Given the description of an element on the screen output the (x, y) to click on. 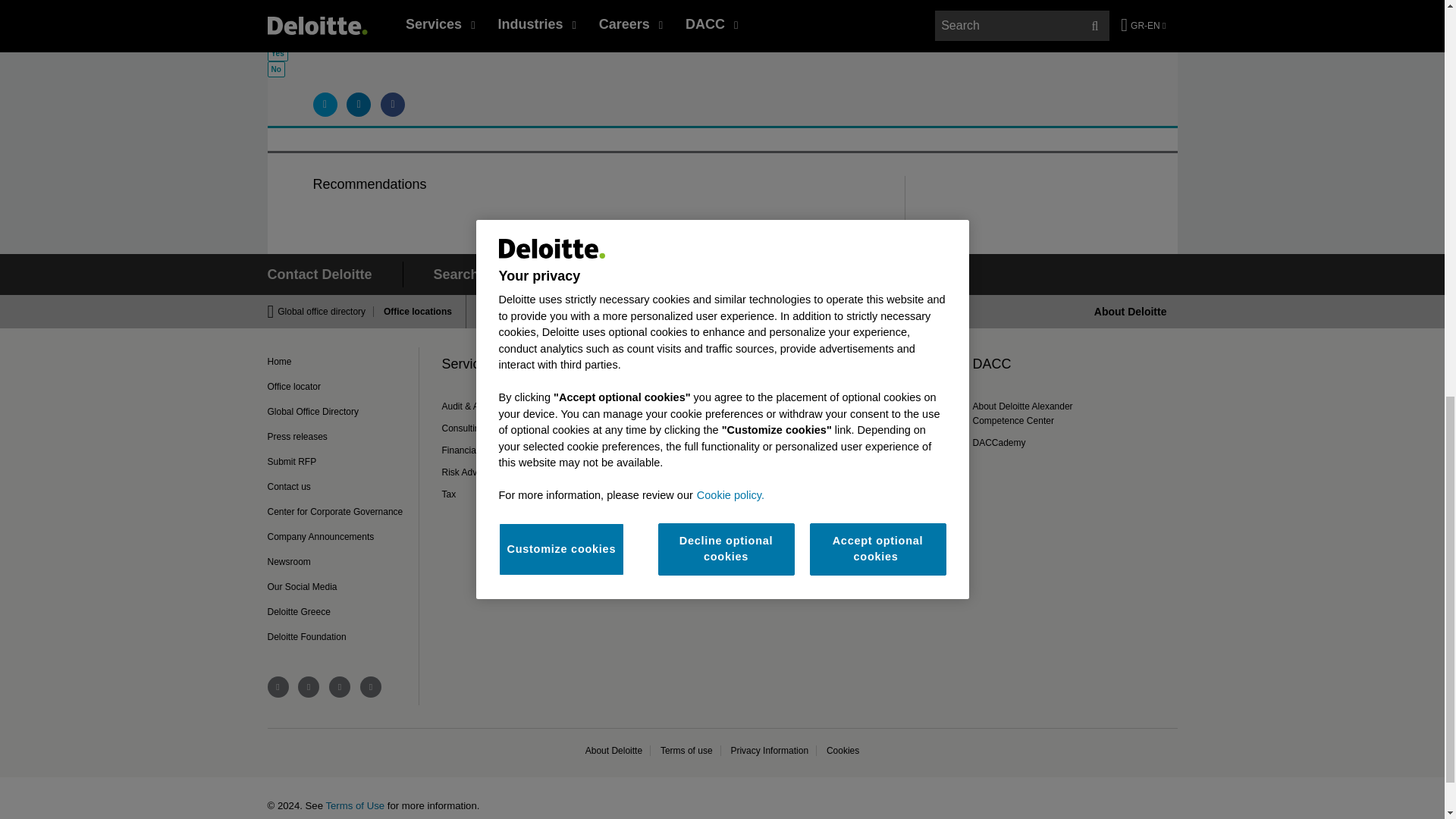
Share via... (358, 104)
linkedin (308, 686)
Share via... (392, 104)
Office locations (413, 311)
instagram (370, 686)
facebook (277, 686)
Share via... (324, 104)
Global office directory (326, 311)
About Deloitte (1130, 311)
youtube (339, 686)
